Given the description of an element on the screen output the (x, y) to click on. 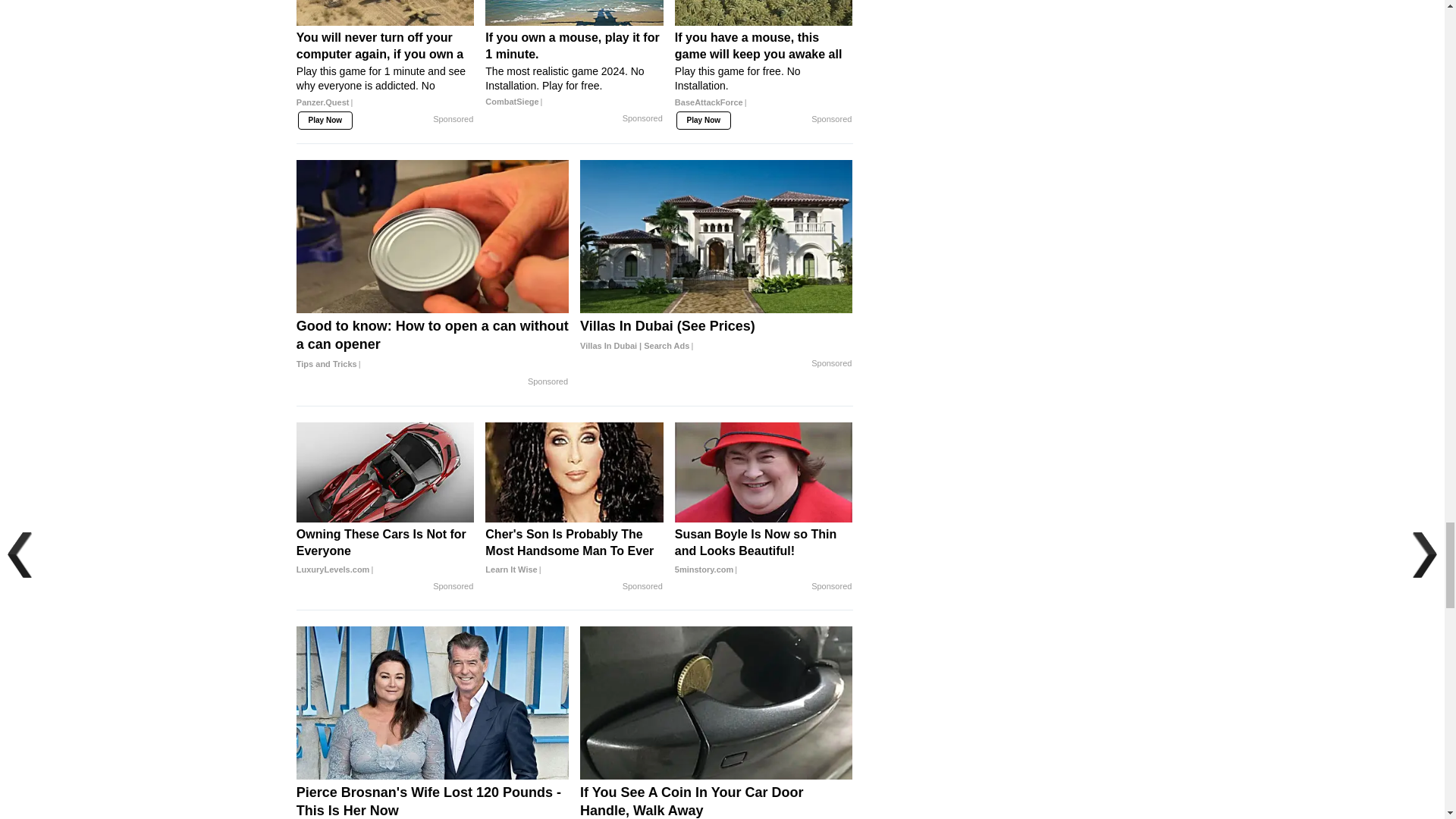
If you own a mouse, play it for 1 minute. (573, 69)
Good to know: How to open a can without a can opener (433, 344)
